Given the description of an element on the screen output the (x, y) to click on. 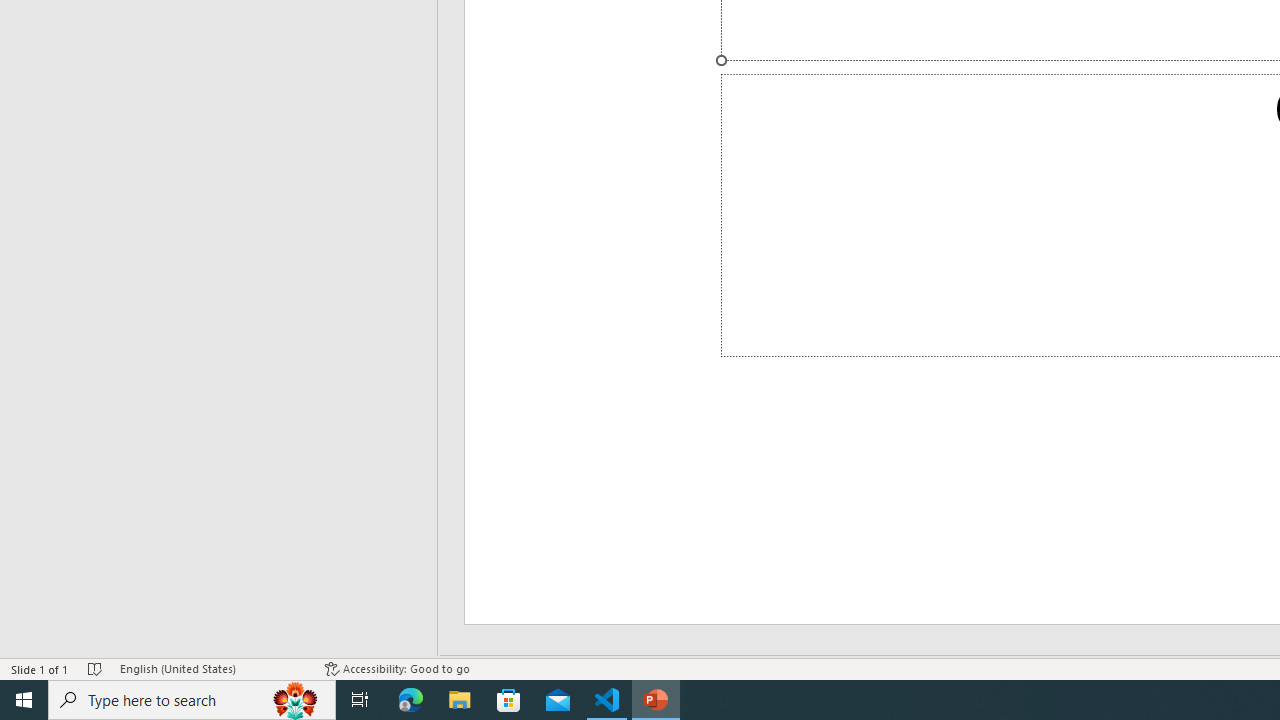
Accessibility Checker Accessibility: Good to go (397, 668)
